Given the description of an element on the screen output the (x, y) to click on. 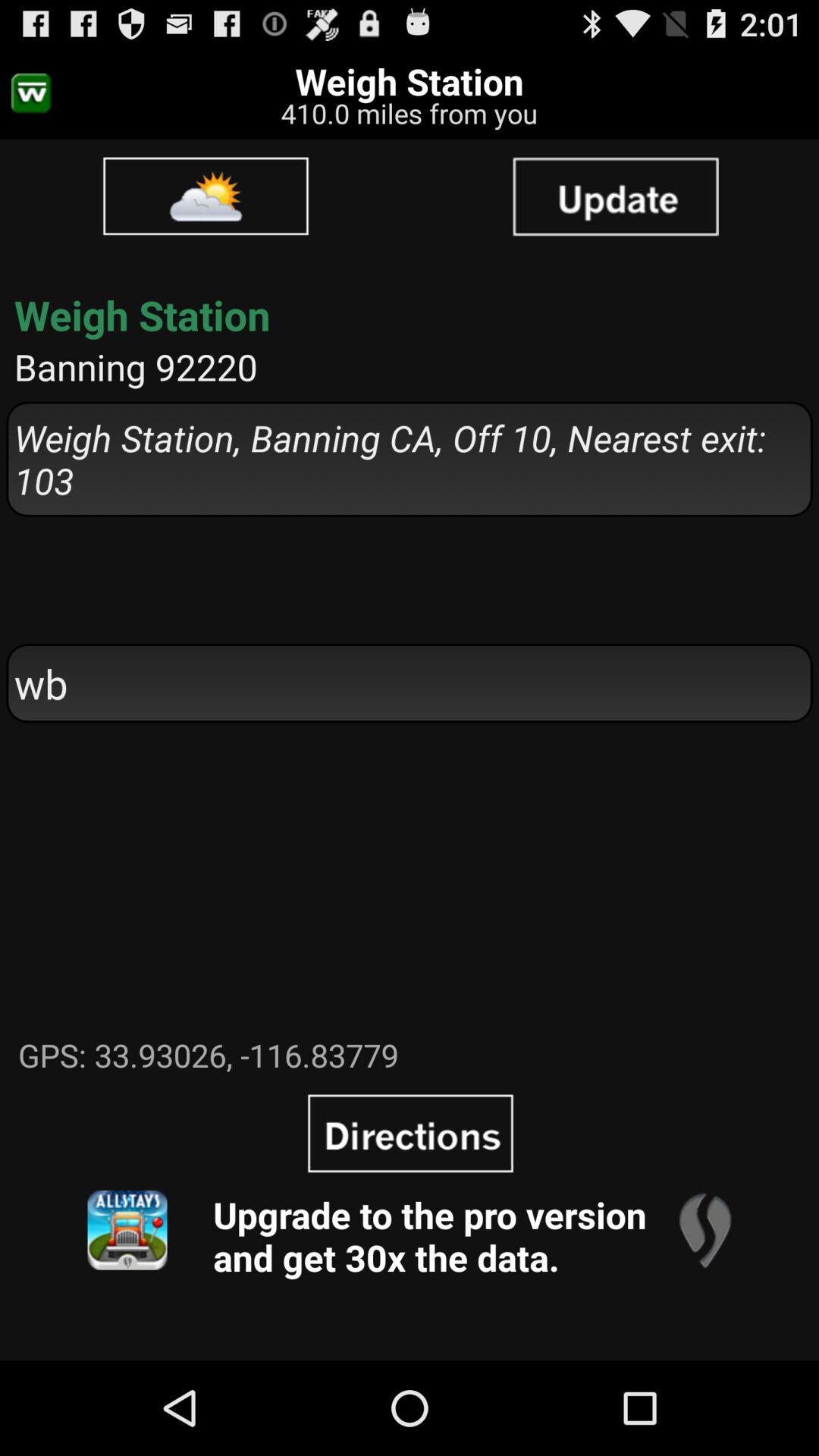
tap the icon below the gps 33 93026 (410, 1133)
